Given the description of an element on the screen output the (x, y) to click on. 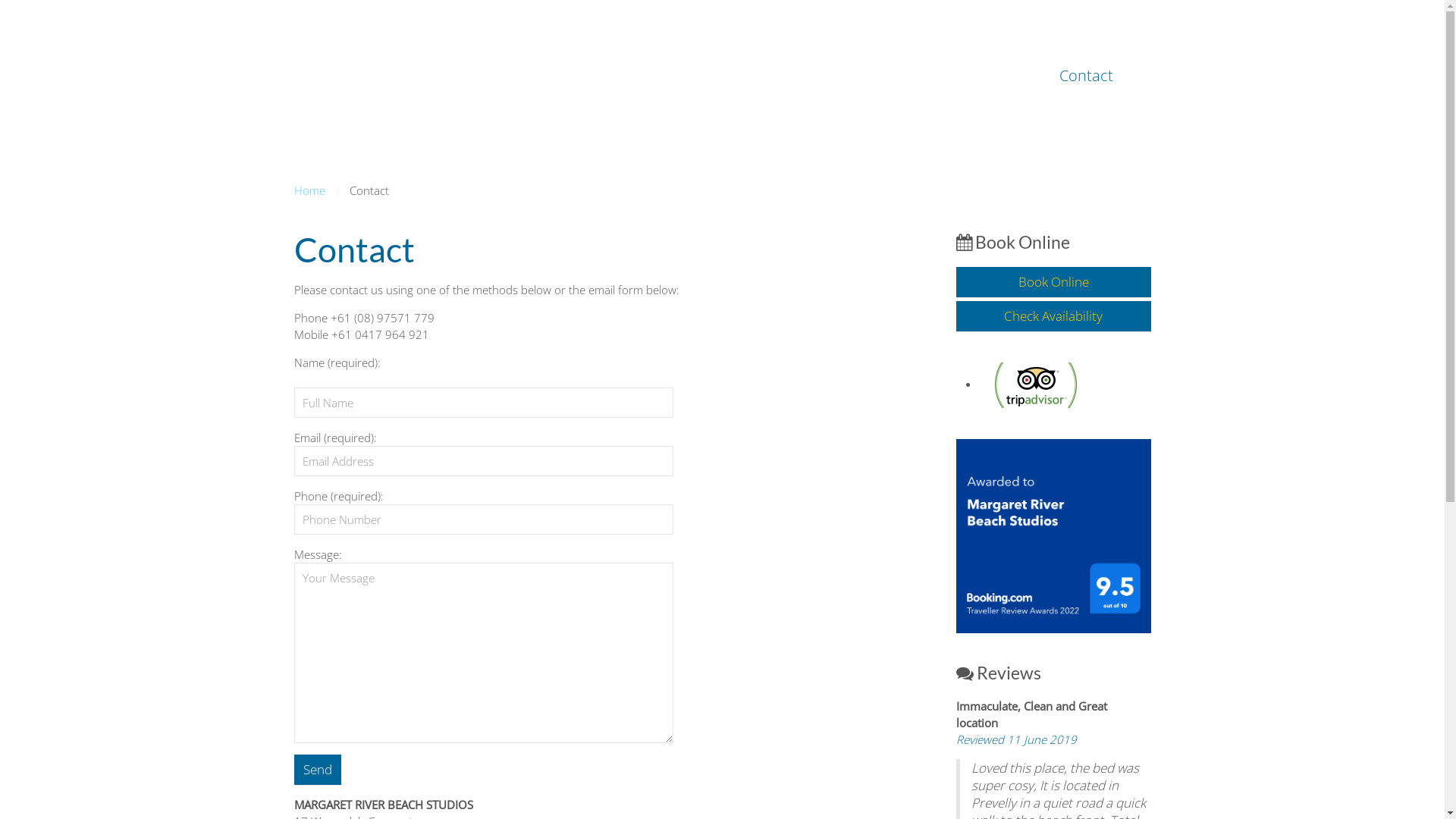
Location Element type: text (858, 75)
Gallery Element type: text (935, 75)
Book Online Element type: text (1053, 281)
Send Element type: text (317, 769)
Rates and Bookings Element type: text (738, 75)
Reviews Element type: text (1008, 75)
Contact Element type: text (1086, 75)
Home Element type: text (309, 190)
Check Availability Element type: text (1053, 316)
